Given the description of an element on the screen output the (x, y) to click on. 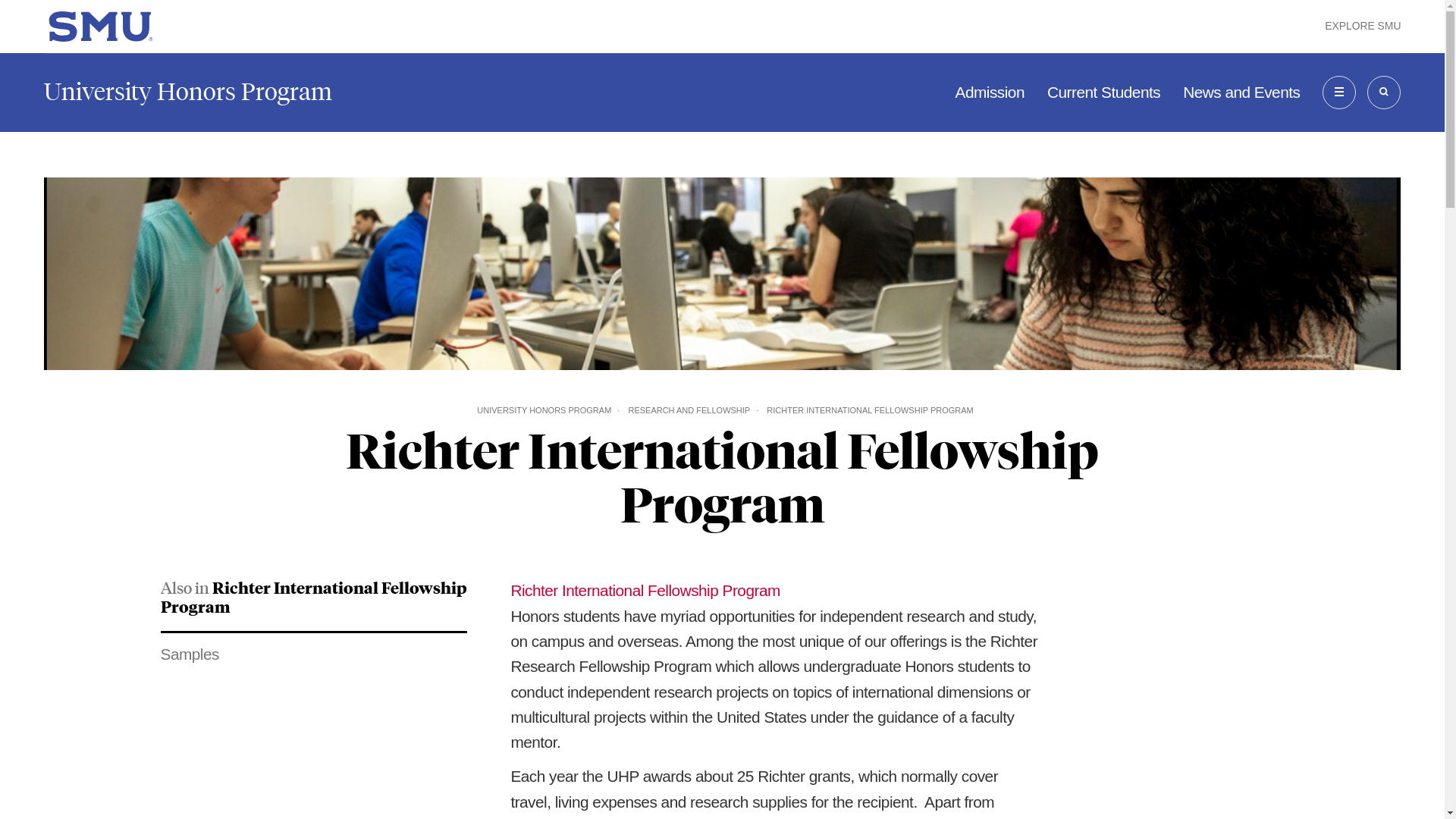
Admission (990, 91)
RESEARCH AND FELLOWSHIP (688, 409)
Samples (313, 654)
RICHTER INTERNATIONAL FELLOWSHIP PROGRAM (869, 409)
UNIVERSITY HONORS PROGRAM (544, 409)
Current Students (1103, 91)
EXPLORE SMU (1362, 26)
MENU (1338, 92)
News and Events (1241, 91)
Richter International Fellowship Program (313, 596)
SEARCH (1383, 92)
University Honors Program (187, 91)
